Given the description of an element on the screen output the (x, y) to click on. 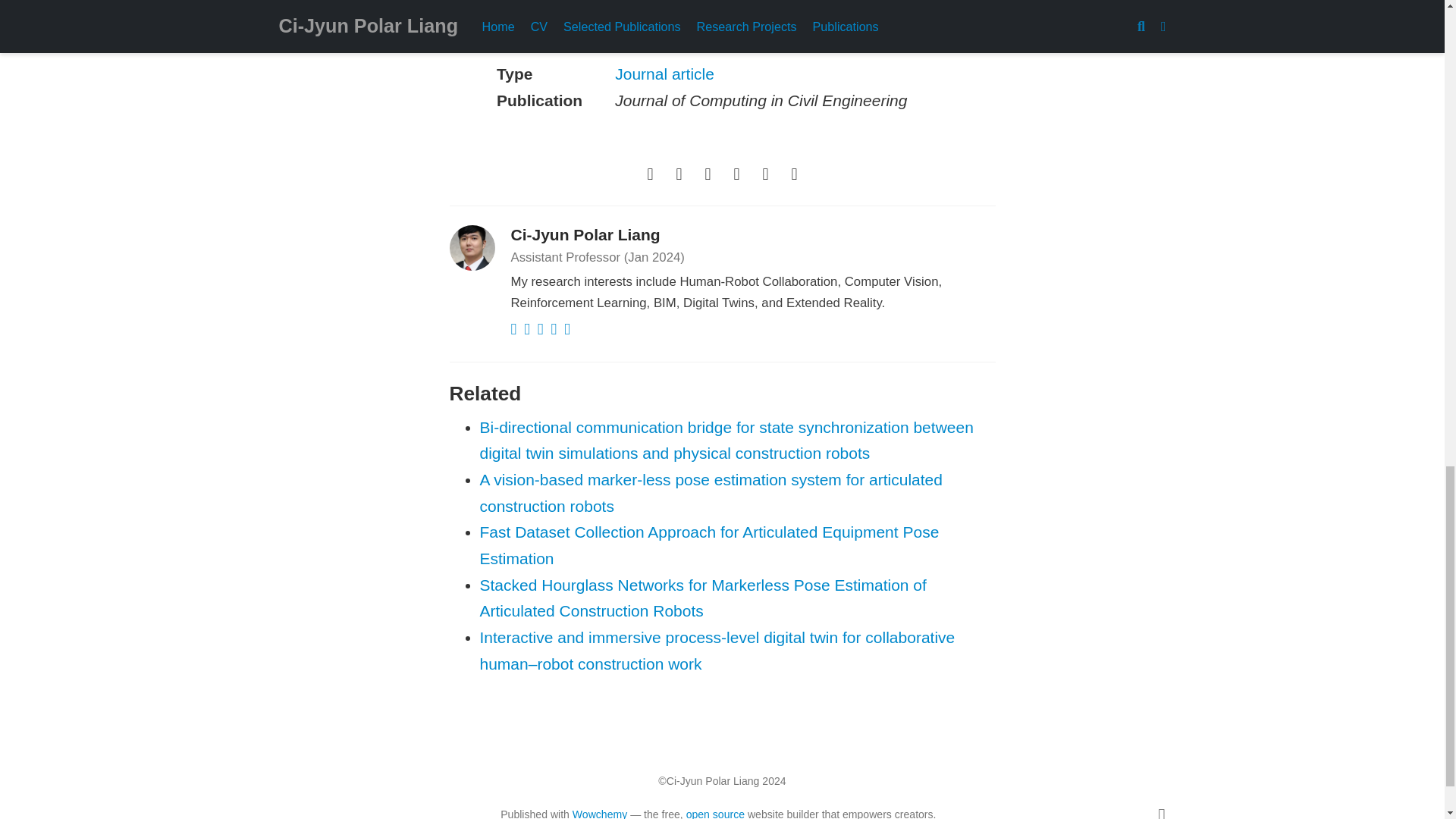
Ci-Jyun Polar Liang (586, 234)
Journal article (664, 73)
